Given the description of an element on the screen output the (x, y) to click on. 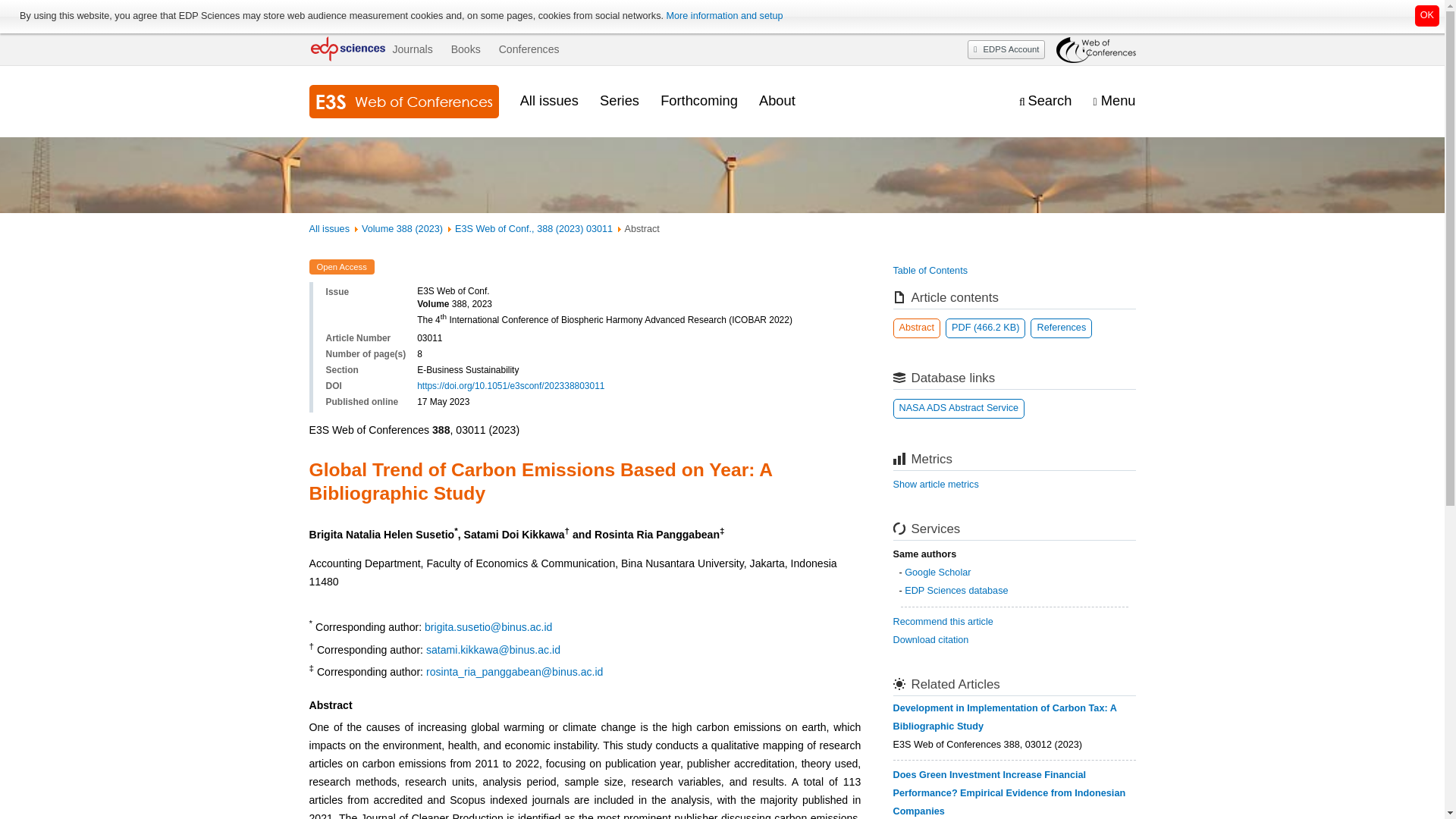
Books (465, 49)
Conferences (529, 49)
Journals (411, 49)
OK (1427, 15)
Journal homepage (403, 101)
More information and setup (724, 15)
Click to close this notification (1427, 15)
Abstract (916, 328)
Display the search engine (1045, 101)
